Given the description of an element on the screen output the (x, y) to click on. 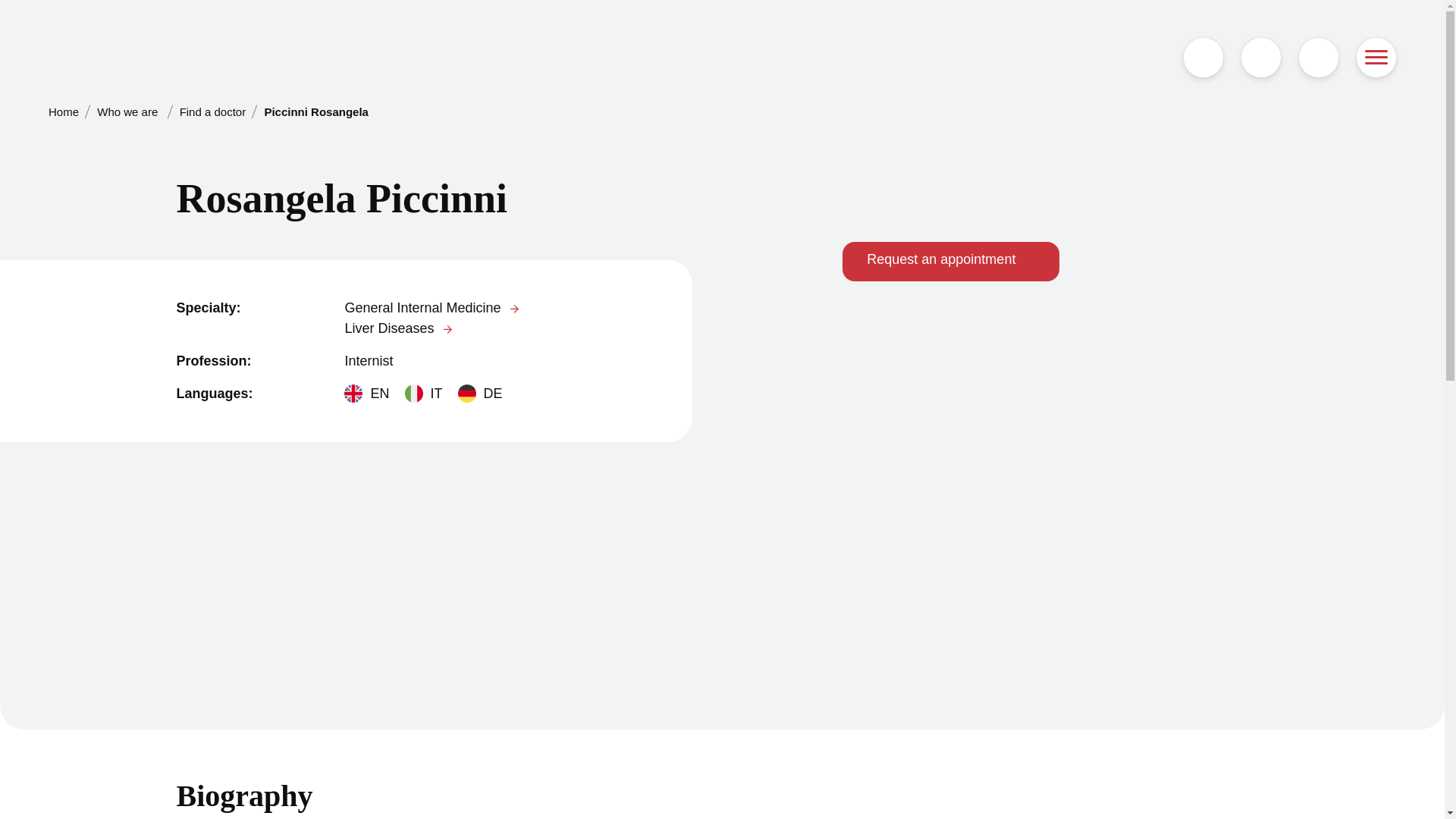
Quick links (1203, 56)
Search (1318, 56)
Open navigation menu (1376, 56)
Change language (1261, 56)
